Given the description of an element on the screen output the (x, y) to click on. 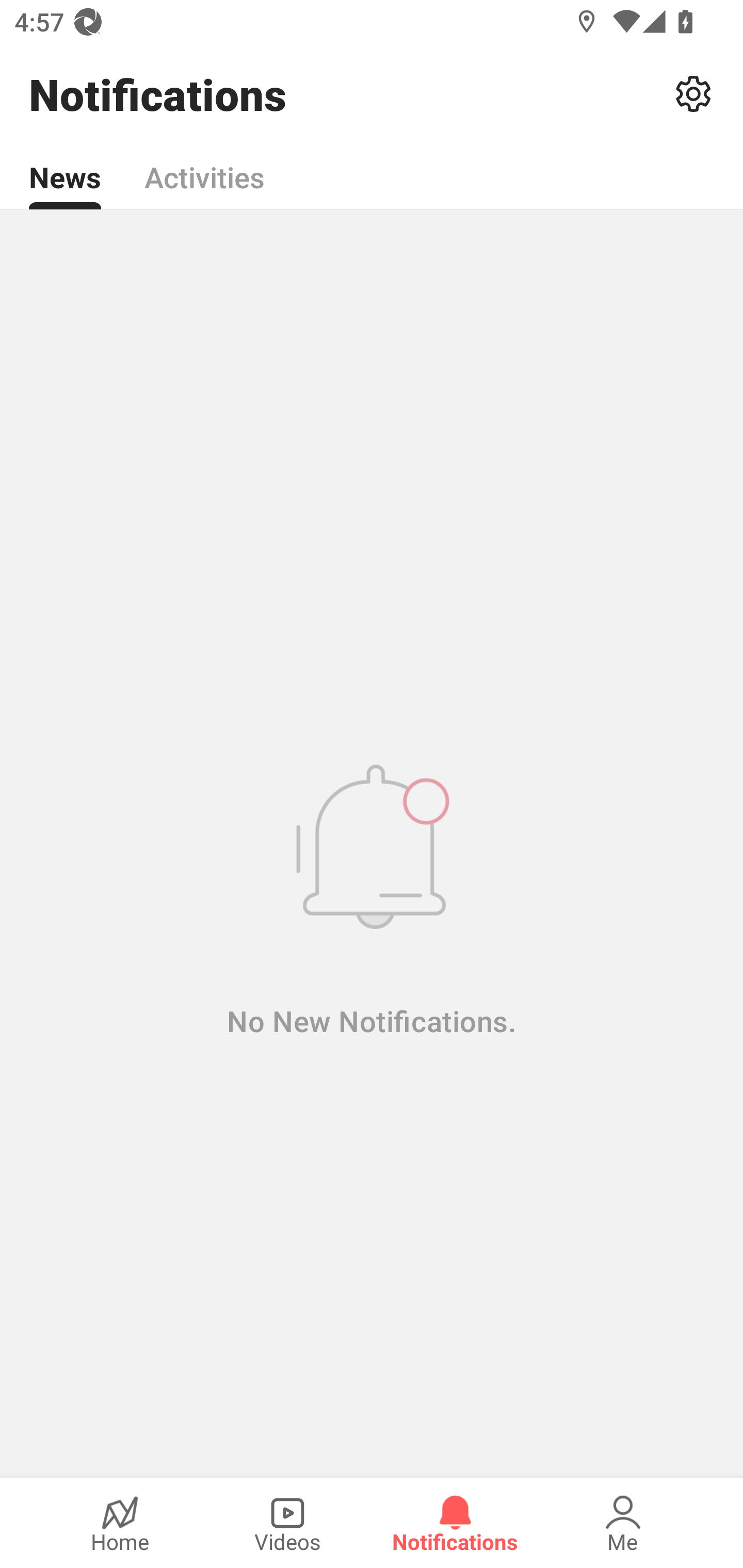
Activities (204, 166)
Home (119, 1522)
Videos (287, 1522)
Me (622, 1522)
